Given the description of an element on the screen output the (x, y) to click on. 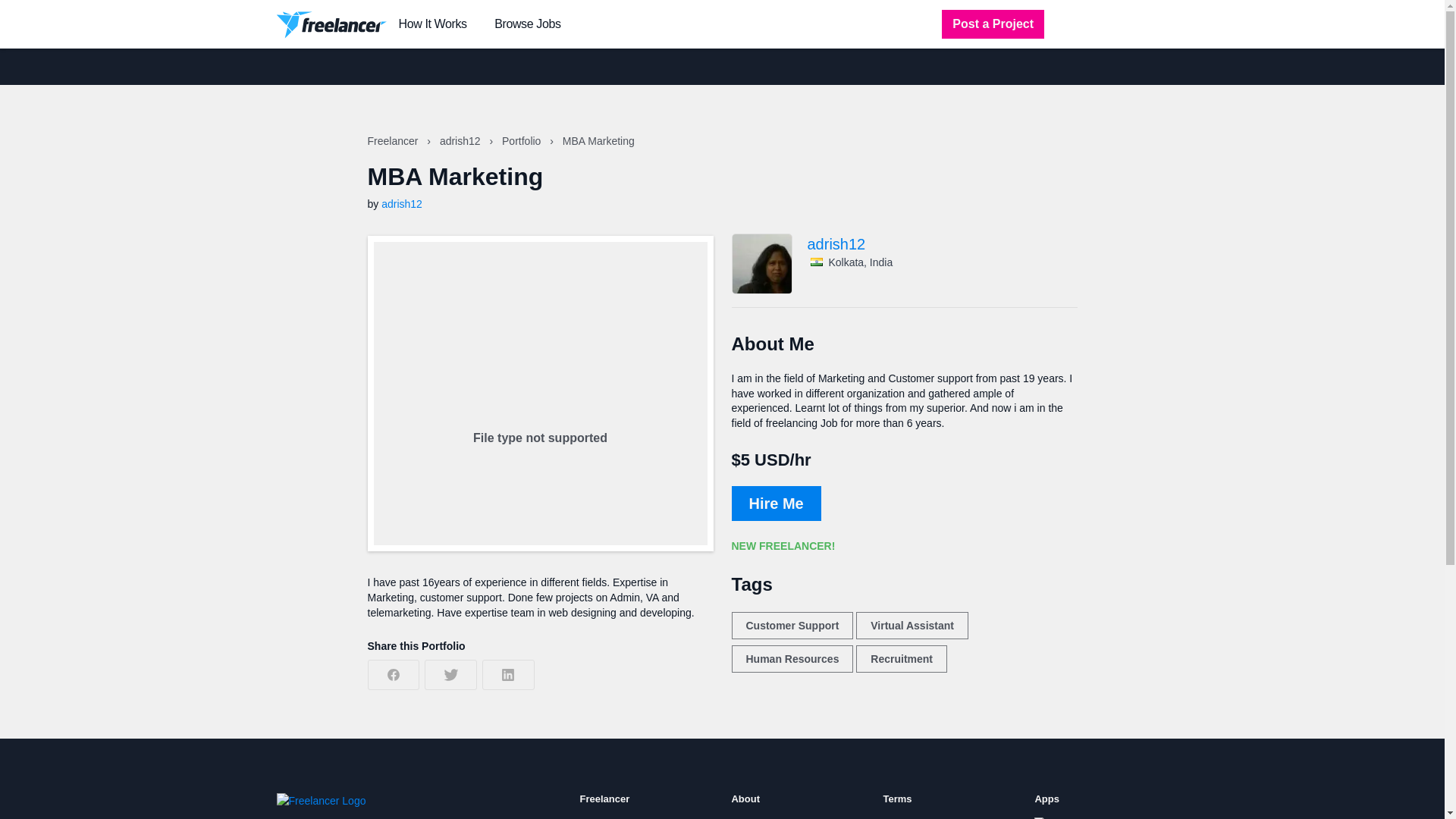
Share on Twitter (450, 675)
Freelancer (393, 141)
Browse Jobs (527, 24)
Portfolio (522, 141)
Categories (603, 817)
adrish12 (401, 203)
Share on Facebook (392, 675)
Hire Me (775, 503)
Share on LinkedIn (507, 675)
How It Works (432, 24)
